Given the description of an element on the screen output the (x, y) to click on. 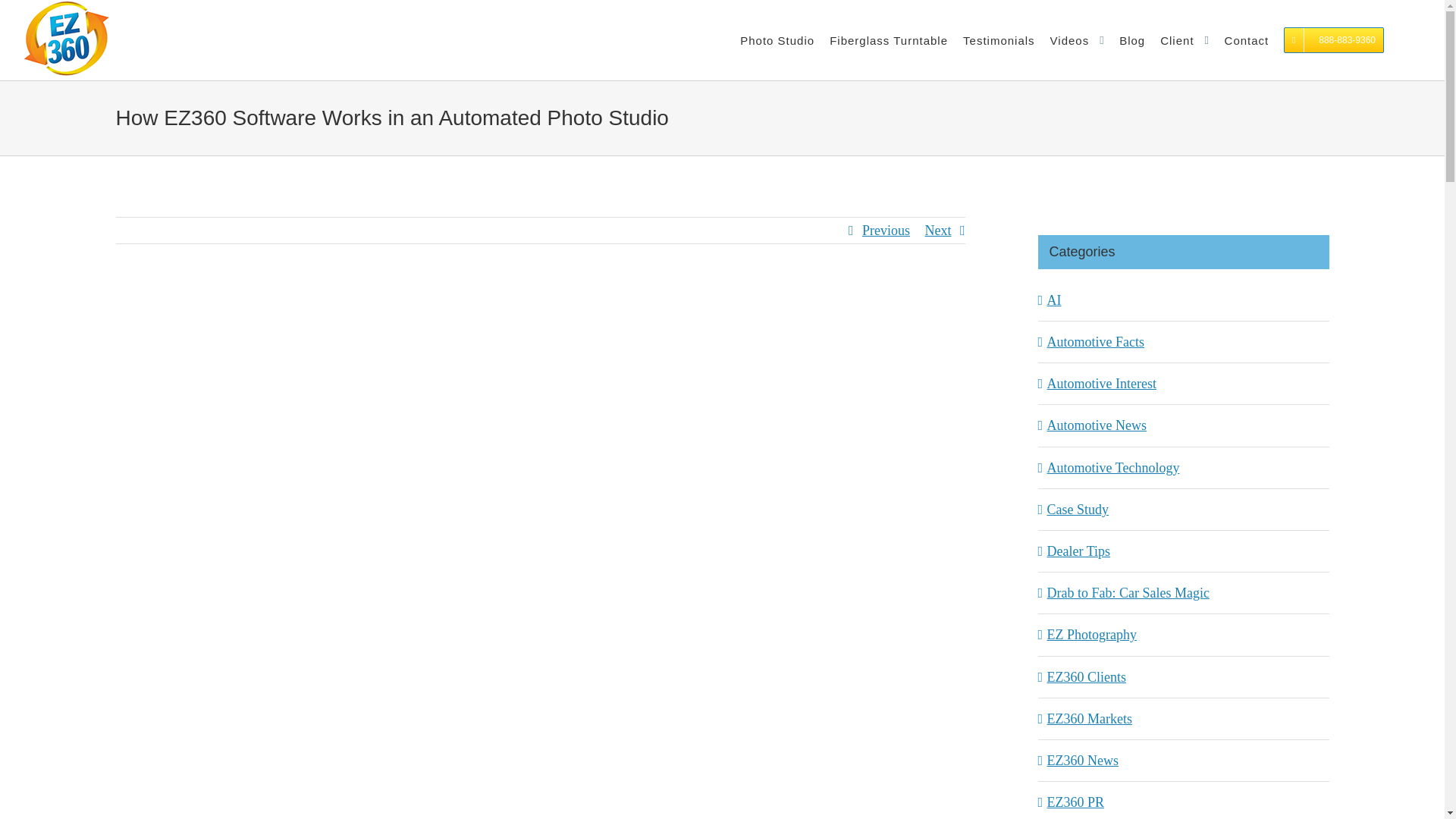
Fiberglass Turntable (888, 40)
Photo Studio (776, 40)
888-883-9360 (1334, 40)
Testimonials (998, 40)
